Given the description of an element on the screen output the (x, y) to click on. 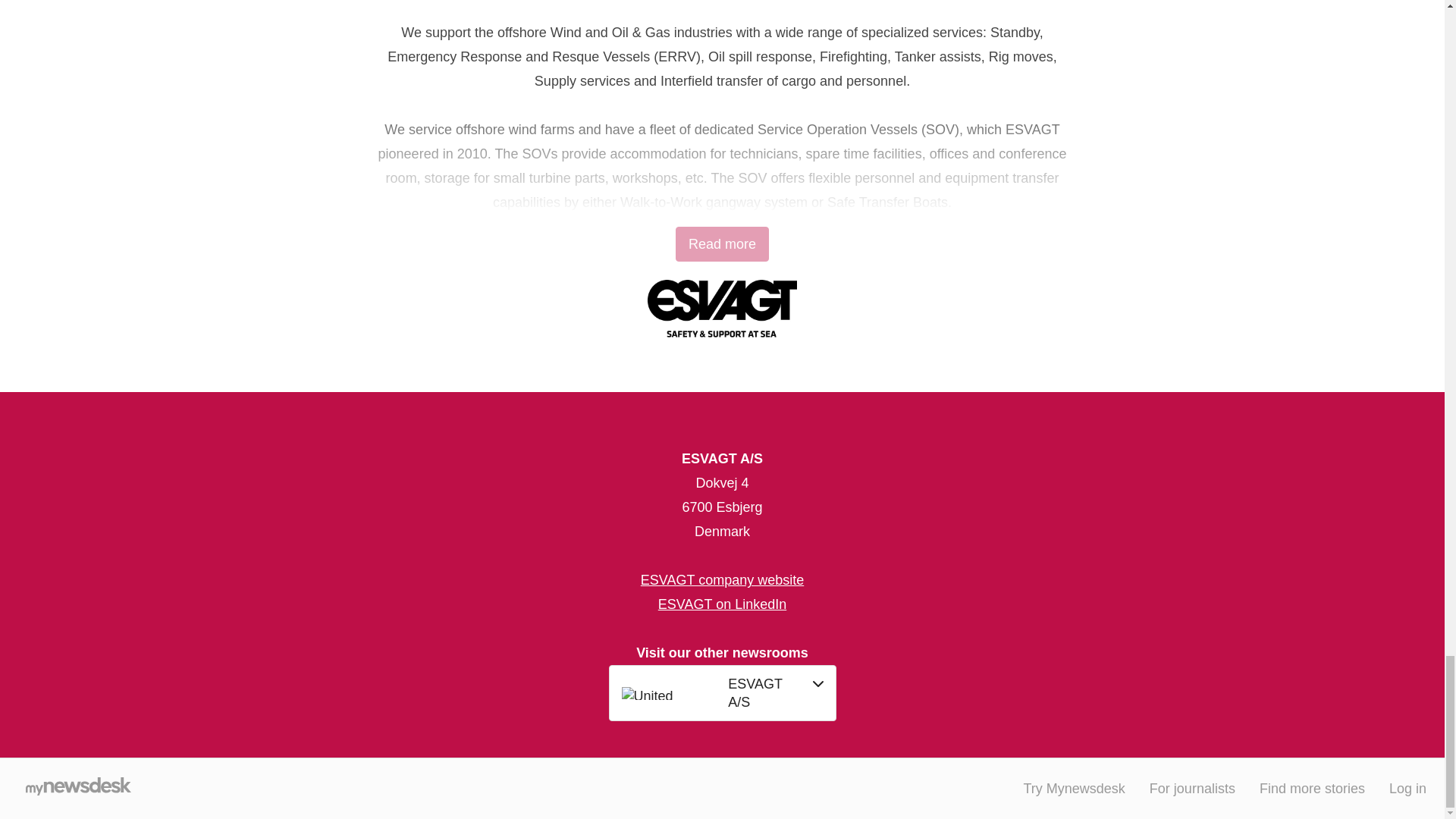
ESVAGT company website (721, 580)
ESVAGT on LinkedIn (722, 604)
United Kingdom (670, 693)
Read more (721, 243)
